Given the description of an element on the screen output the (x, y) to click on. 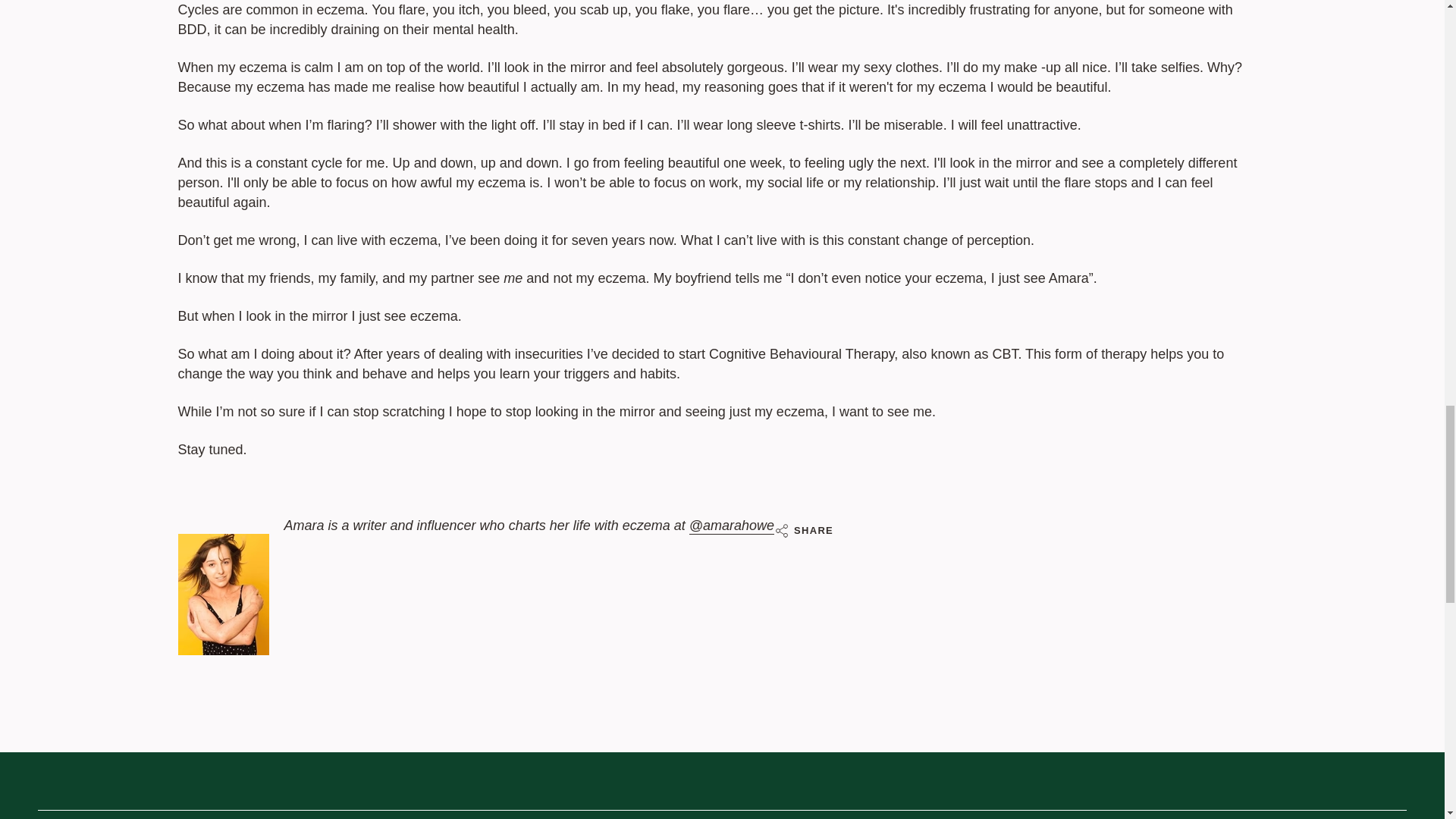
Amara Howe instagram (731, 527)
